Given the description of an element on the screen output the (x, y) to click on. 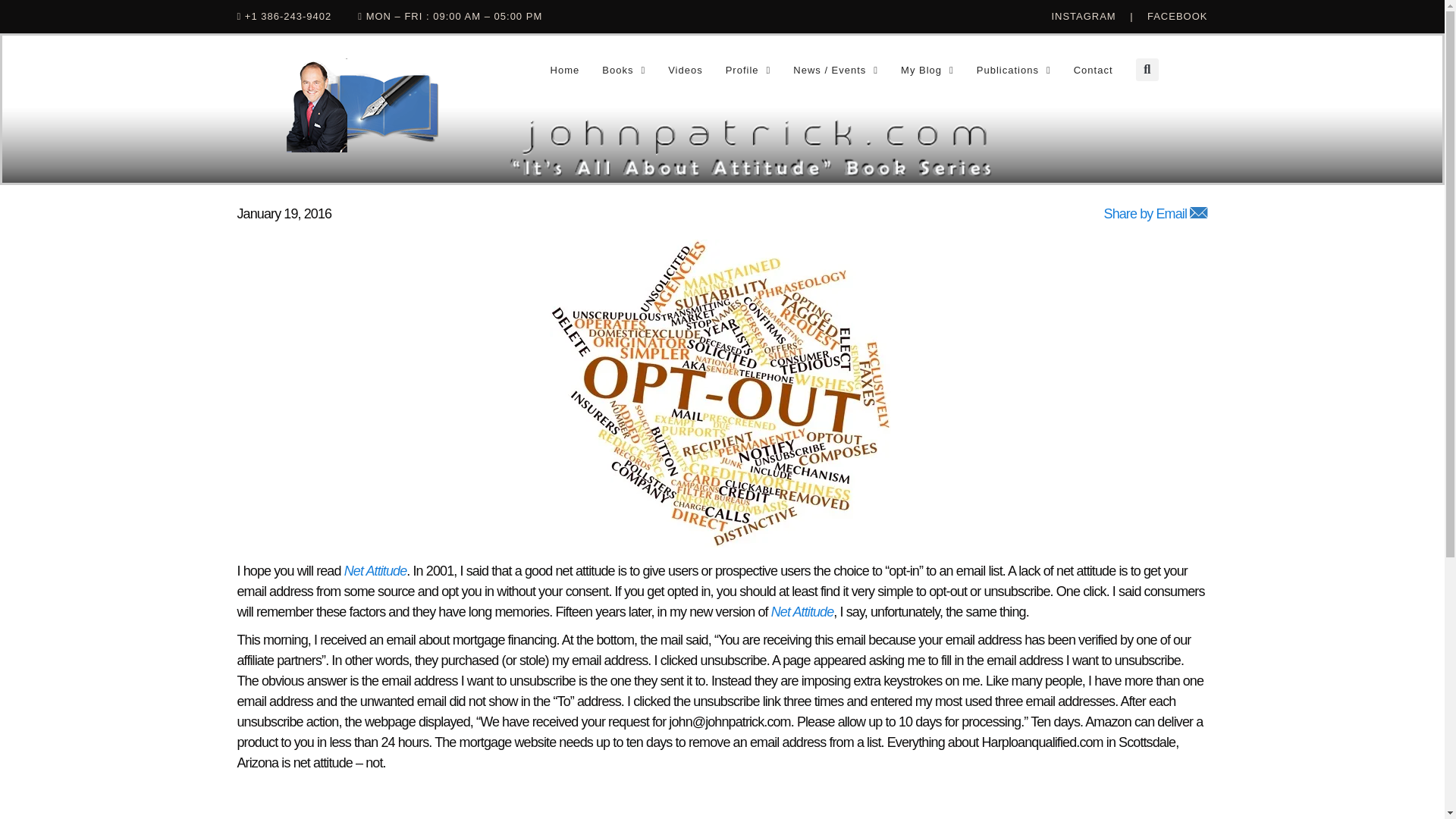
Home (564, 69)
Profile (748, 69)
Books (623, 69)
INSTAGRAM     (1090, 16)
Videos (685, 69)
Share by Email (1155, 213)
FACEBOOK (1177, 16)
